Given the description of an element on the screen output the (x, y) to click on. 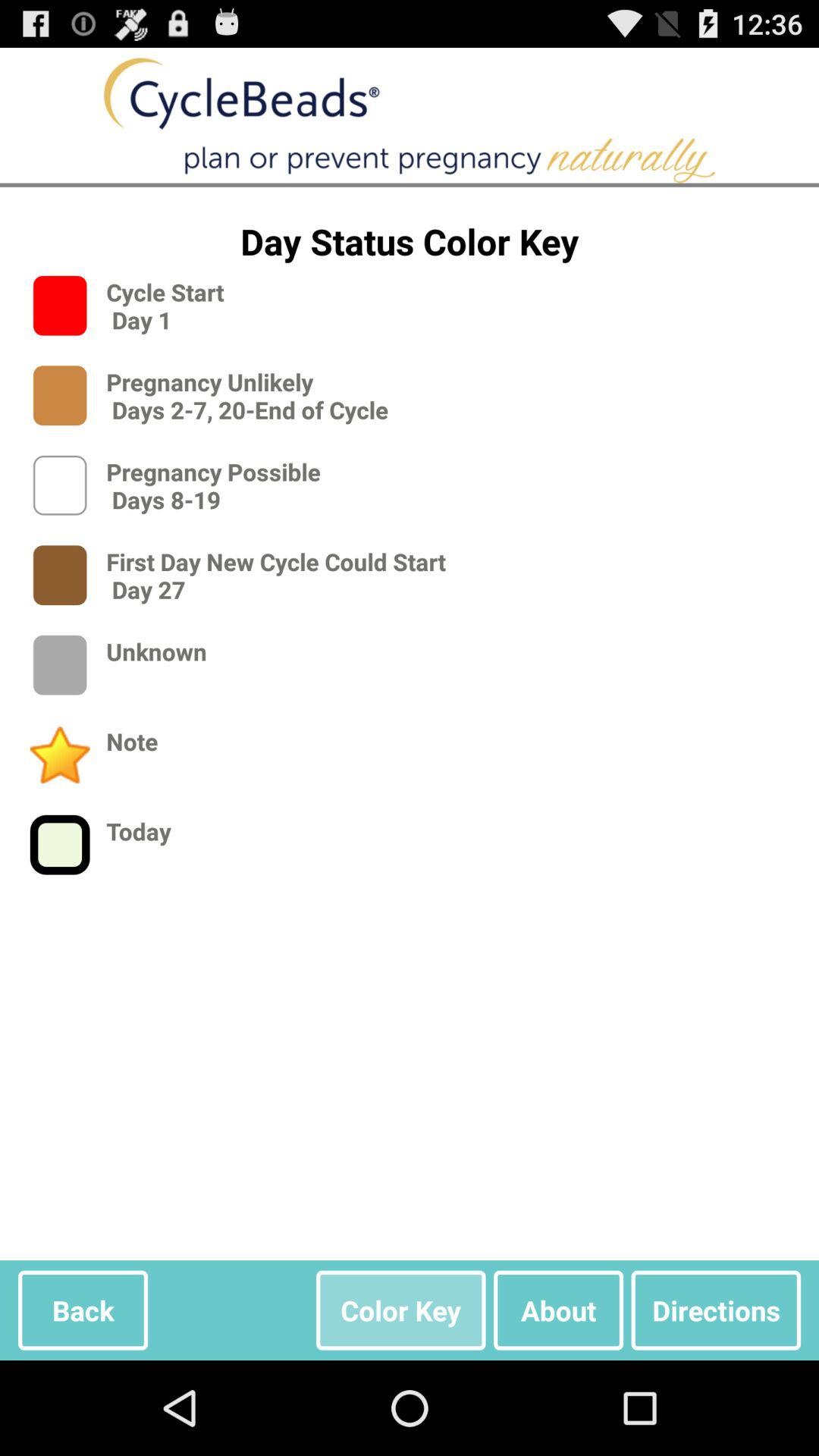
click on directions (715, 1311)
